Given the description of an element on the screen output the (x, y) to click on. 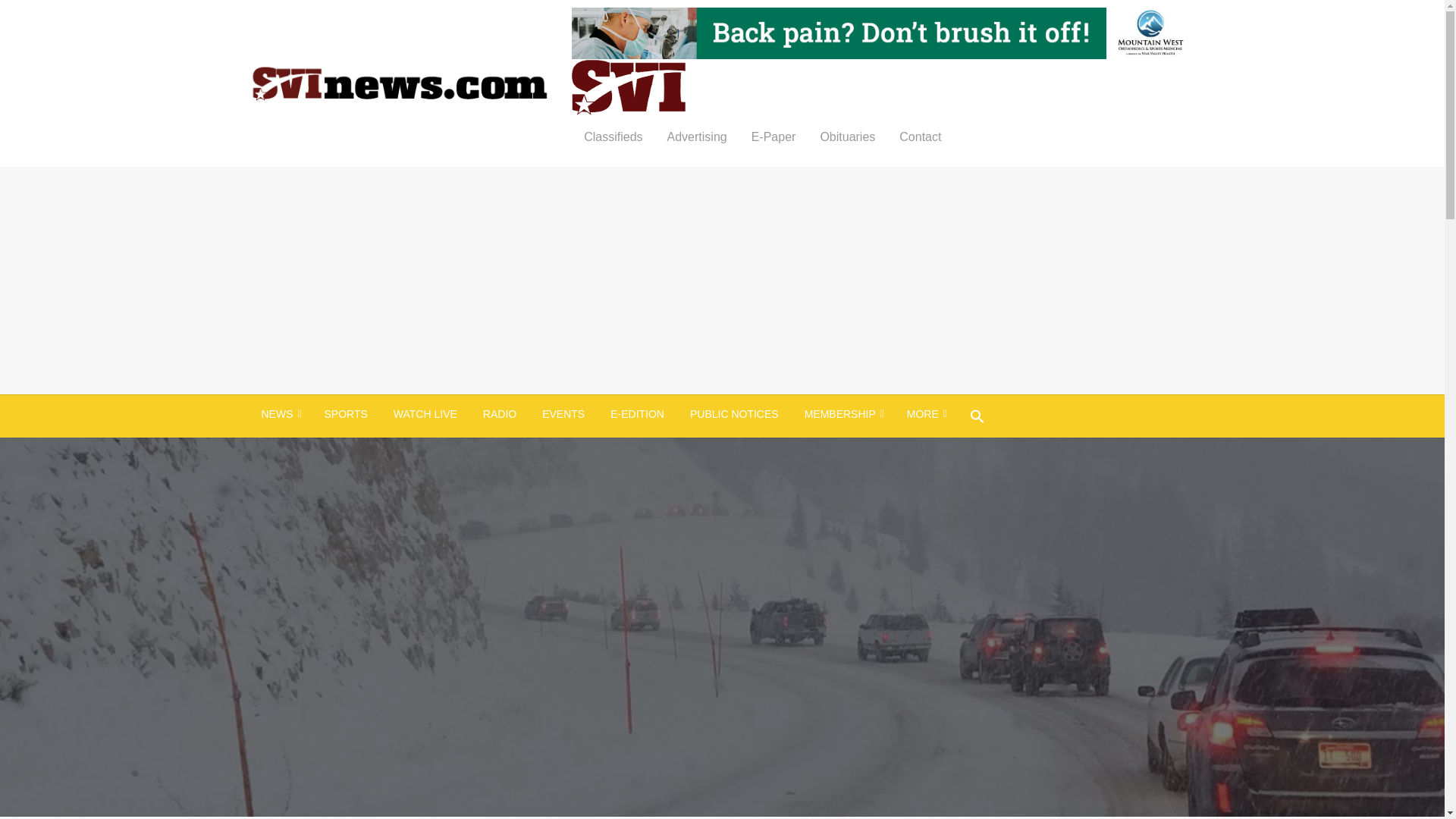
SVI-NEWS (623, 87)
E-Paper (773, 136)
MORE (924, 413)
E-EDITION (636, 413)
Classifieds (612, 136)
PUBLIC NOTICES (734, 413)
WATCH LIVE (425, 413)
Advertising (697, 136)
NEWS (279, 413)
RADIO (499, 413)
SPORTS (345, 413)
Contact (919, 136)
Obituaries (847, 136)
EVENTS (562, 413)
